Given the description of an element on the screen output the (x, y) to click on. 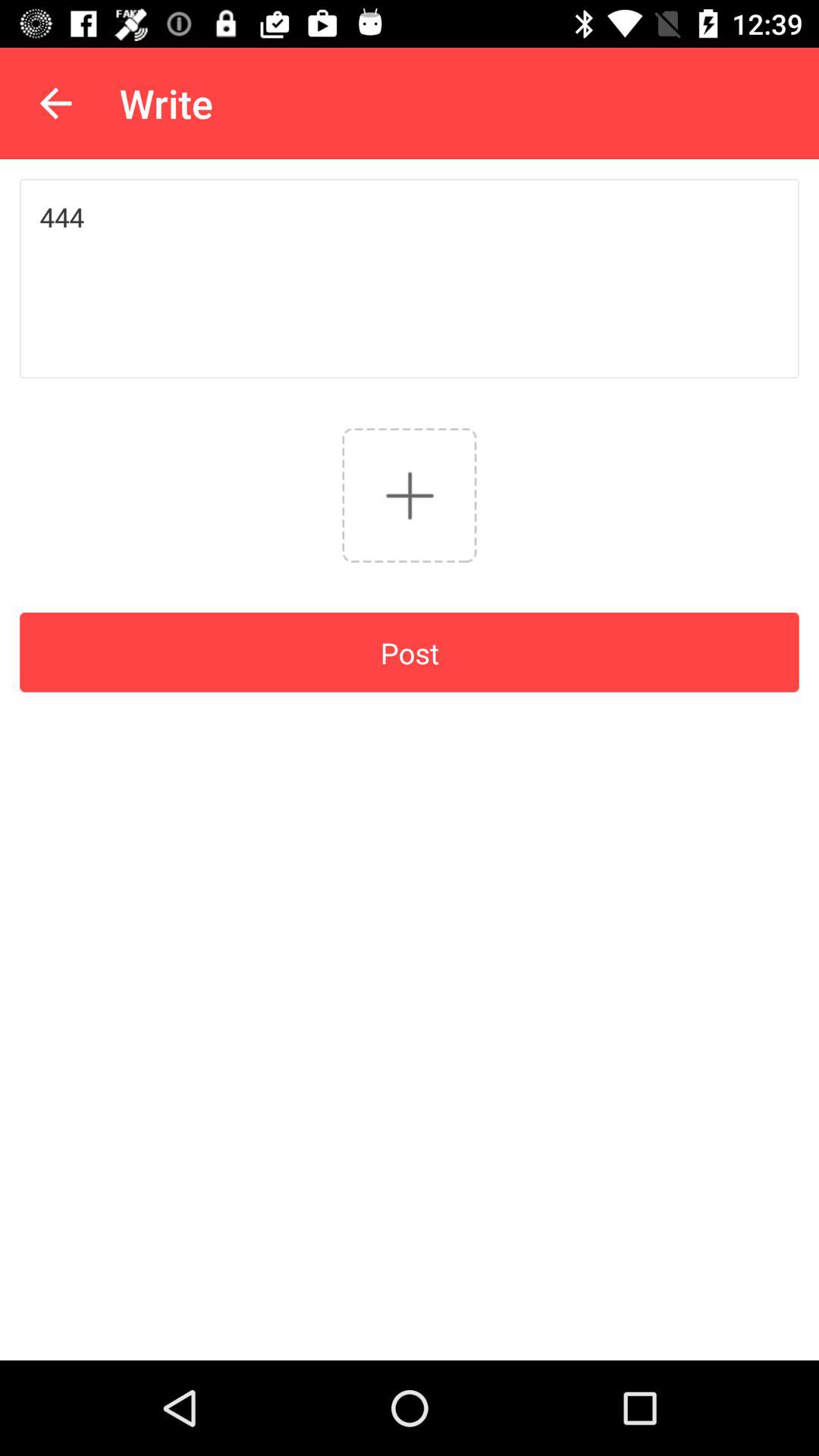
click item above the post icon (409, 495)
